Given the description of an element on the screen output the (x, y) to click on. 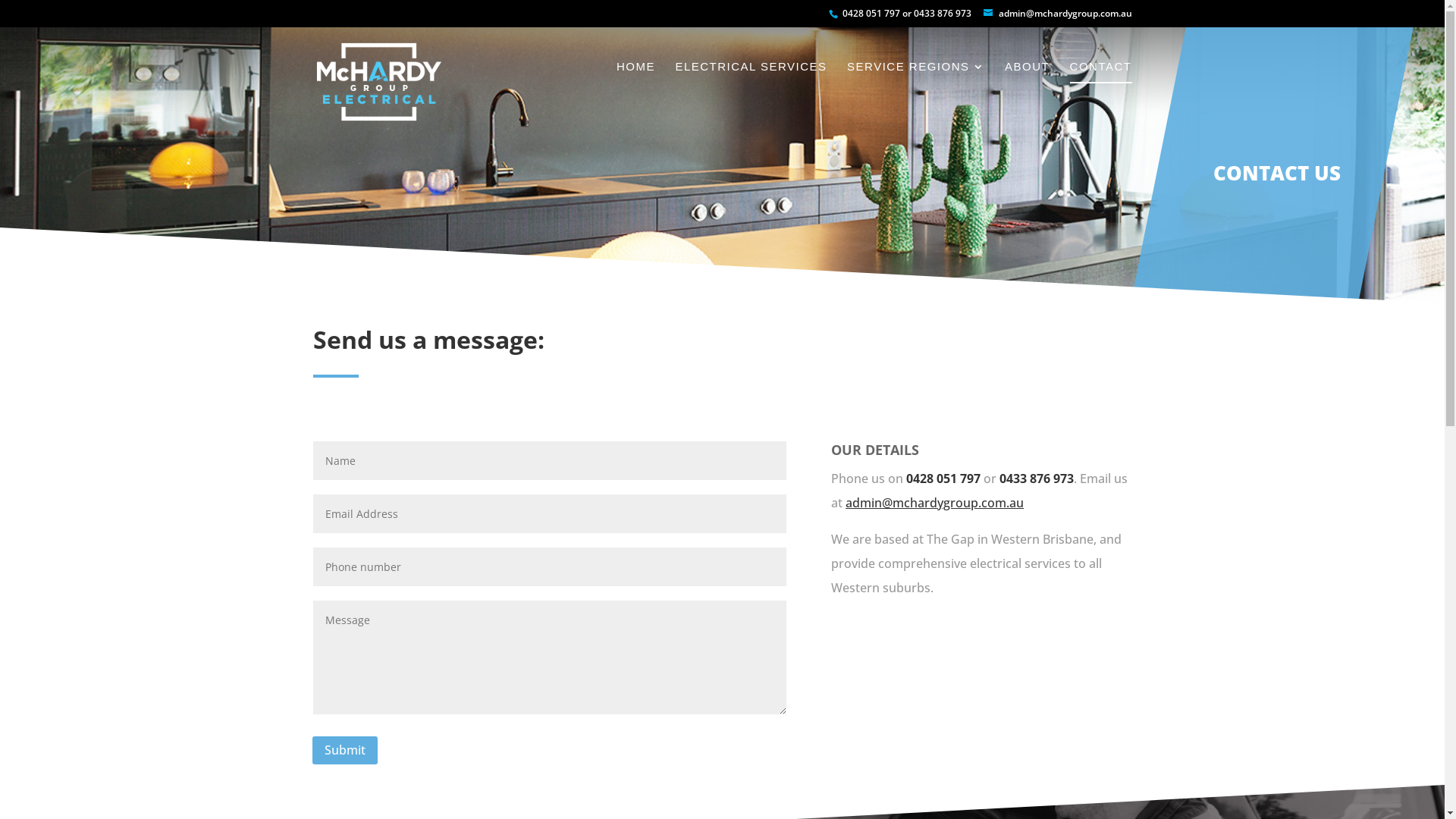
ABOUT Element type: text (1026, 83)
admin@mchardygroup.com.au Element type: text (934, 502)
CONTACT Element type: text (1101, 83)
ELECTRICAL SERVICES Element type: text (750, 83)
SERVICE REGIONS Element type: text (915, 83)
HOME Element type: text (635, 83)
Submit Element type: text (344, 750)
admin@mchardygroup.com.au Element type: text (1056, 12)
